Given the description of an element on the screen output the (x, y) to click on. 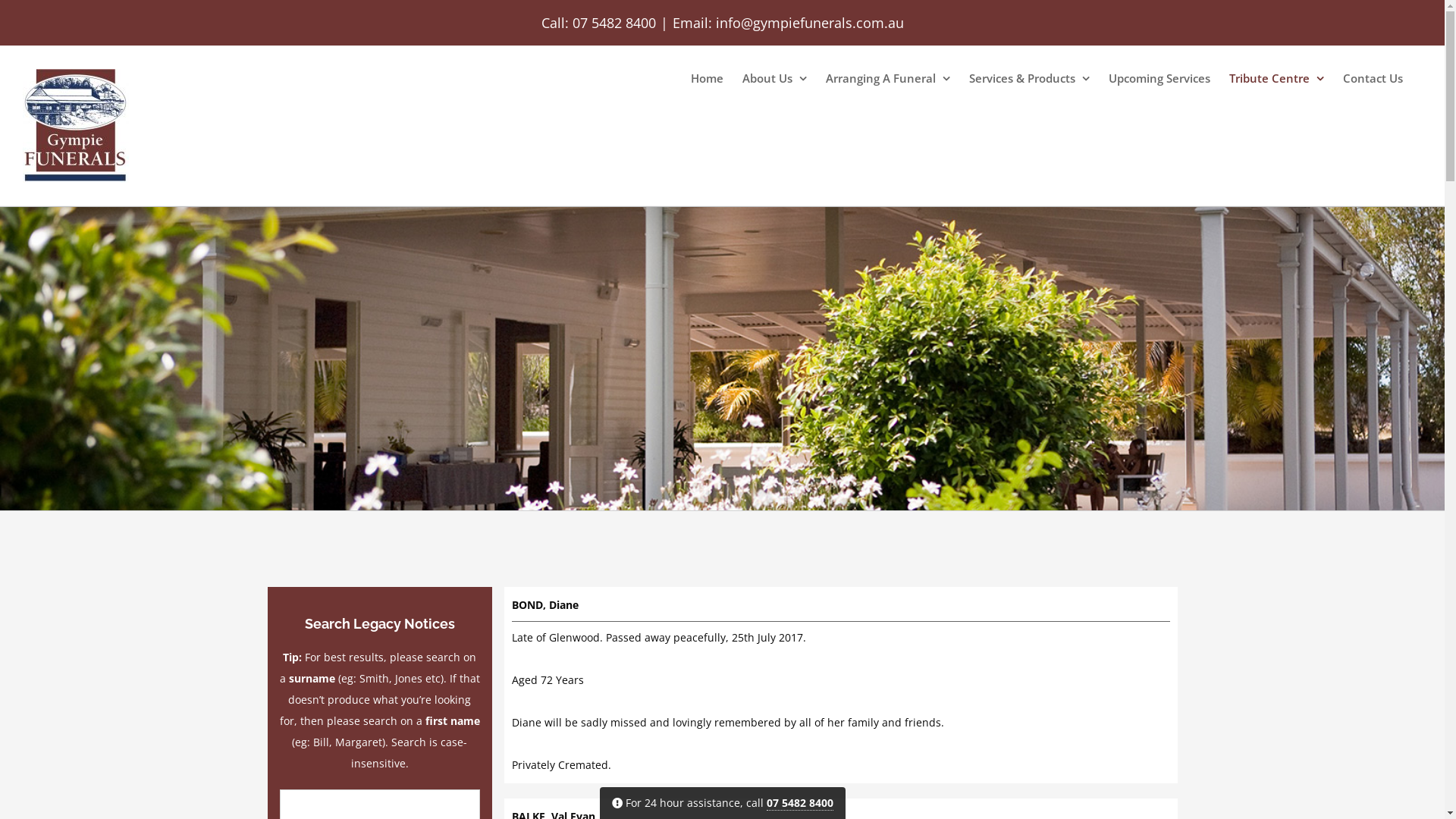
Contact Us Element type: text (1372, 77)
Email: info@gympiefunerals.com.au Element type: text (787, 22)
07 5482 8400 Element type: text (613, 22)
Services & Products Element type: text (1029, 77)
Tribute Centre Element type: text (1276, 77)
07 5482 8400 Element type: text (798, 802)
About Us Element type: text (774, 77)
Home Element type: text (706, 77)
Arranging A Funeral Element type: text (887, 77)
Upcoming Services Element type: text (1159, 77)
